Given the description of an element on the screen output the (x, y) to click on. 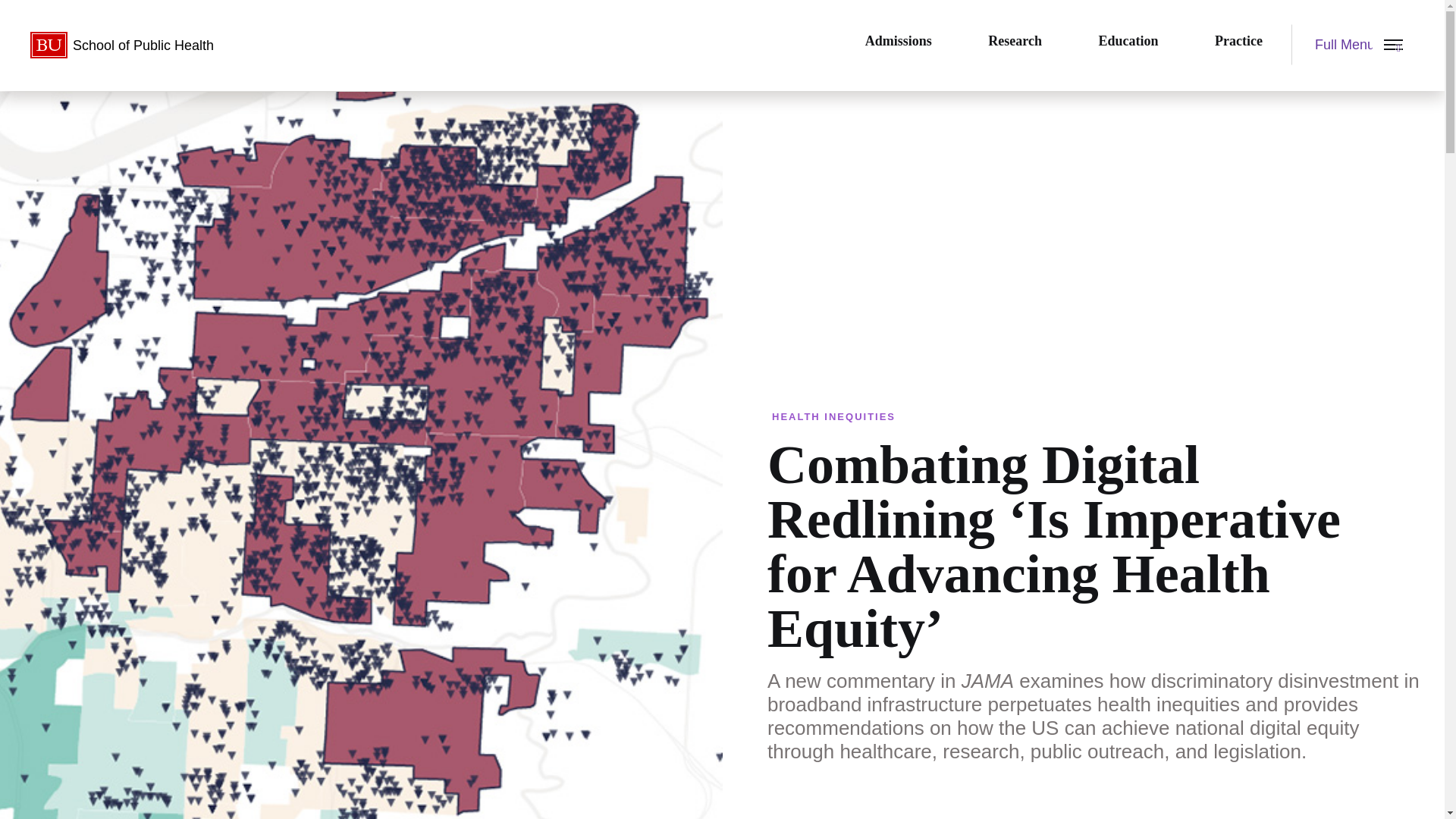
Practice (1238, 40)
Education (1128, 40)
School of Public Health (132, 45)
Full Menu (1352, 44)
Research (1014, 40)
Admissions (898, 40)
